Given the description of an element on the screen output the (x, y) to click on. 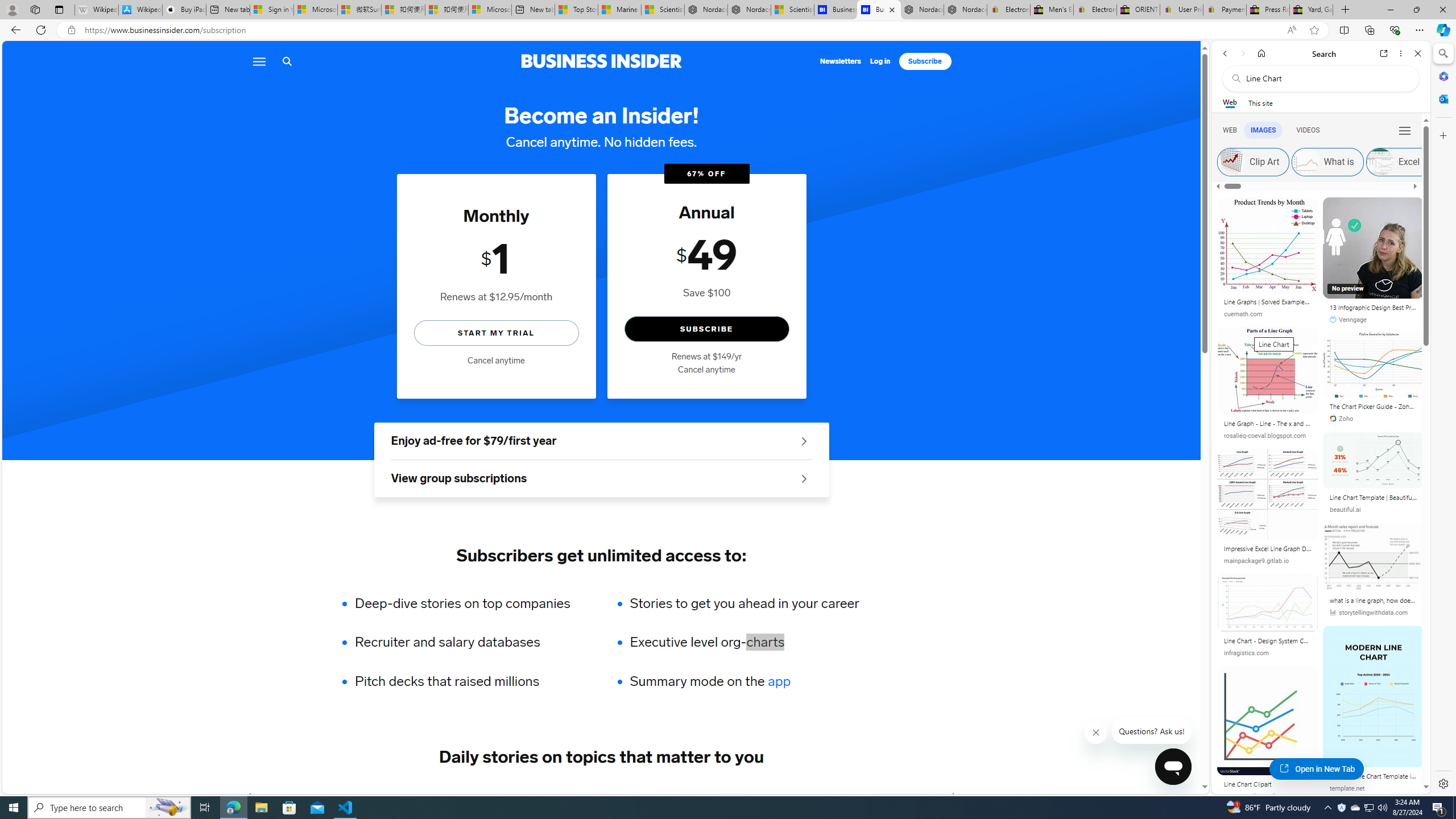
This site scope (1259, 102)
EXECUTIVE LIFESTYLE (788, 796)
Executive level org-charts (743, 642)
Class: sc-1k07fow-1 cbnSms (1173, 766)
Deep-dive stories on top companies (470, 602)
Business Insider logo (601, 60)
Image result for Line Chart (1373, 696)
Nordace - Summer Adventures 2024 (922, 9)
mainpackage9.gitlab.io (1267, 561)
proper-cooking.info (1251, 796)
Venngage (1348, 319)
Close message from company (1096, 732)
beautiful.ai (1345, 509)
